Given the description of an element on the screen output the (x, y) to click on. 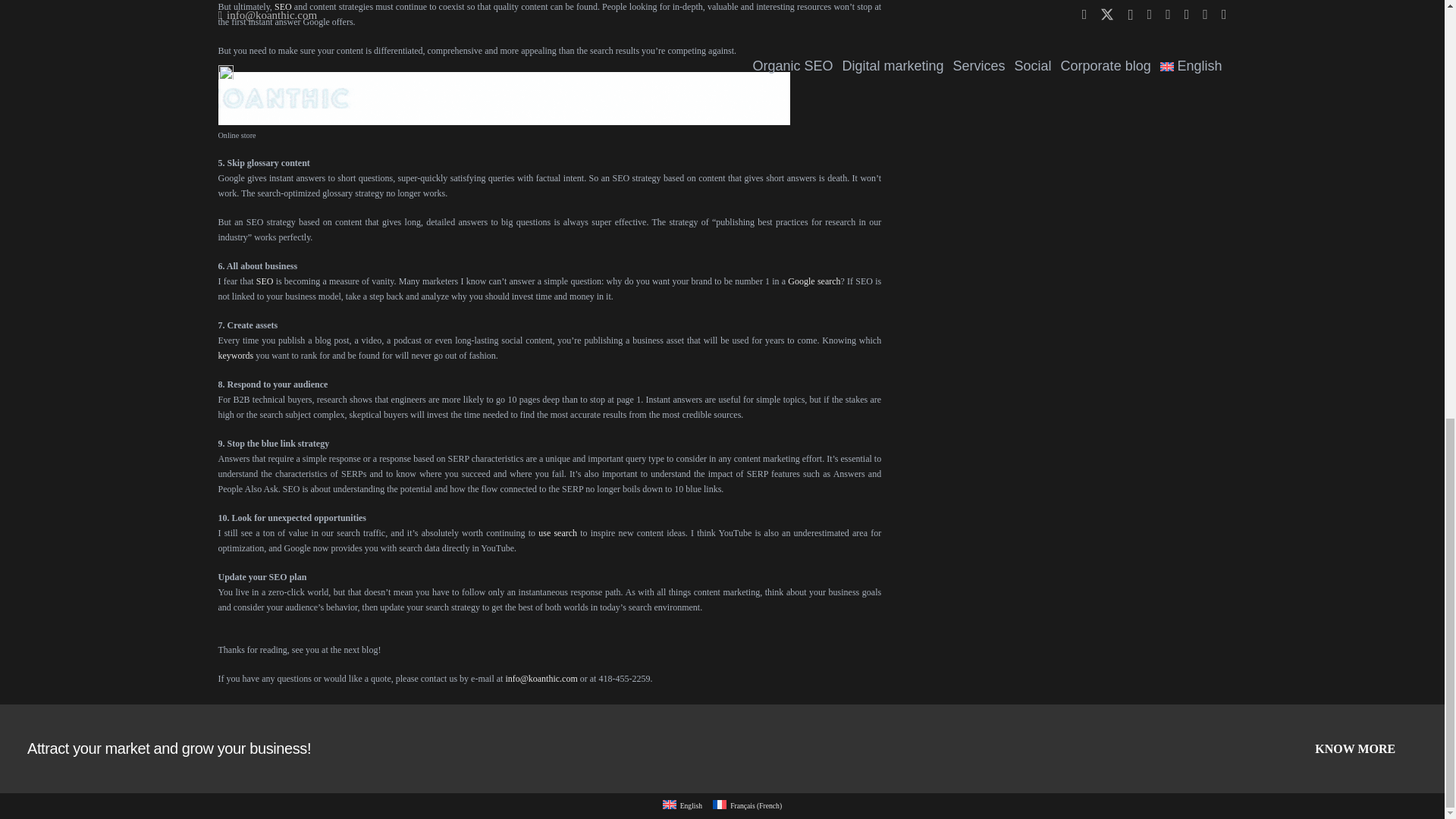
SEO (283, 6)
SEO (264, 281)
keywords (235, 355)
use search (557, 532)
Google search (813, 281)
